Given the description of an element on the screen output the (x, y) to click on. 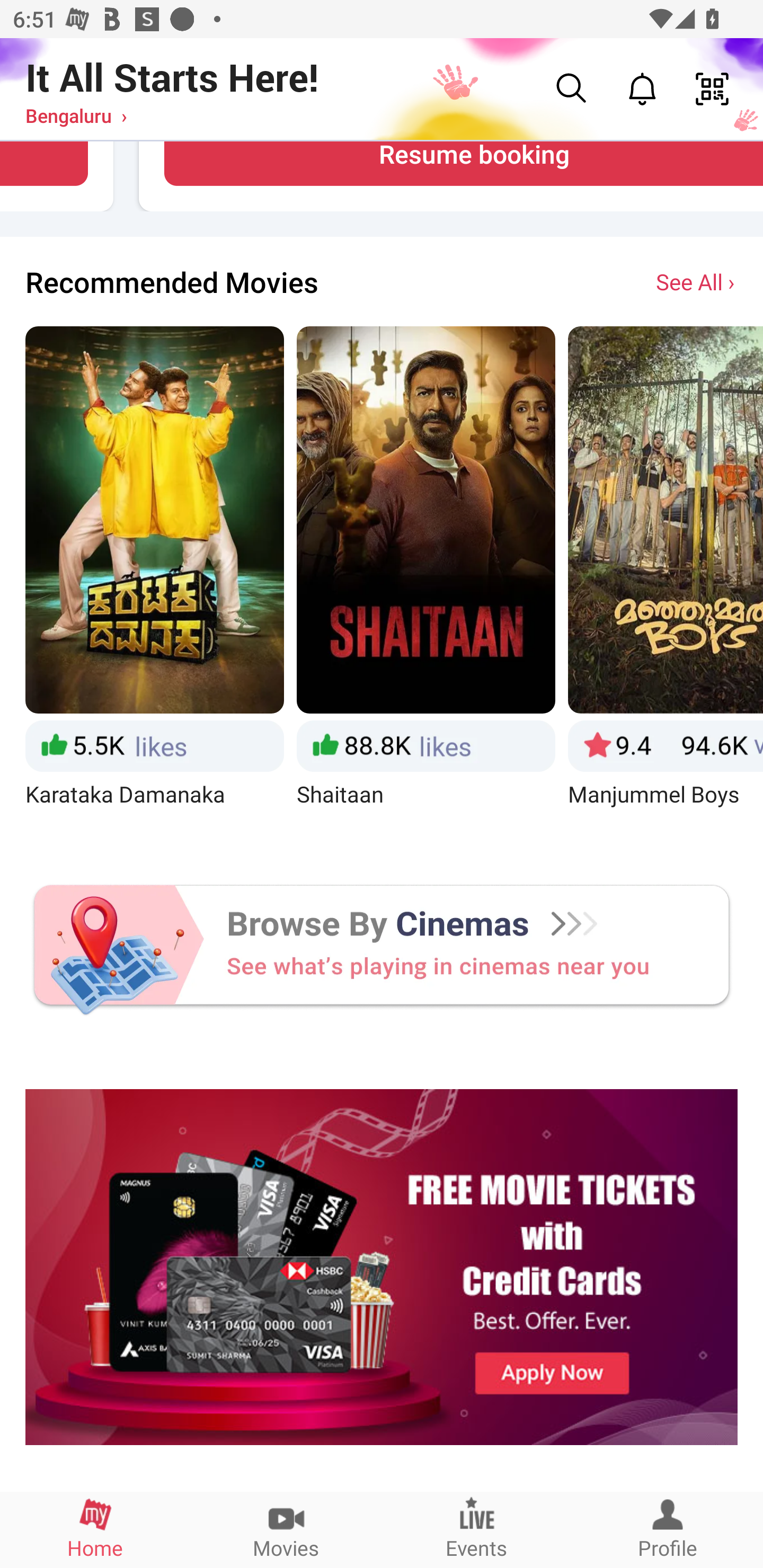
Bengaluru  › (76, 114)
Resume booking (463, 163)
See All › (696, 281)
Karataka Damanaka (154, 583)
Shaitaan (425, 583)
Manjummel Boys (665, 583)
Home (95, 1529)
Movies (285, 1529)
Events (476, 1529)
Profile (667, 1529)
